Given the description of an element on the screen output the (x, y) to click on. 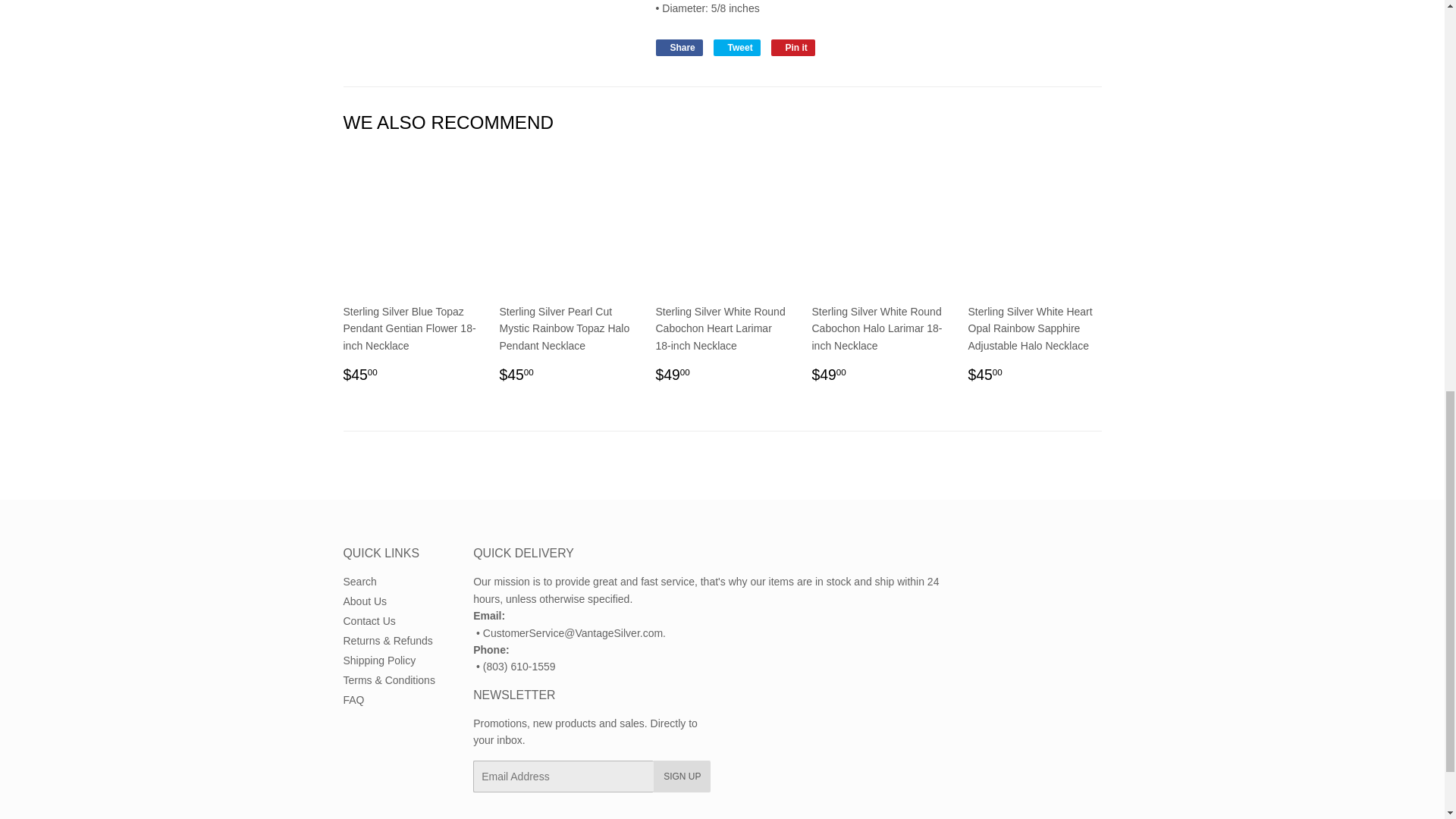
Share on Facebook (678, 47)
Pin on Pinterest (793, 47)
Tweet on Twitter (736, 47)
